Given the description of an element on the screen output the (x, y) to click on. 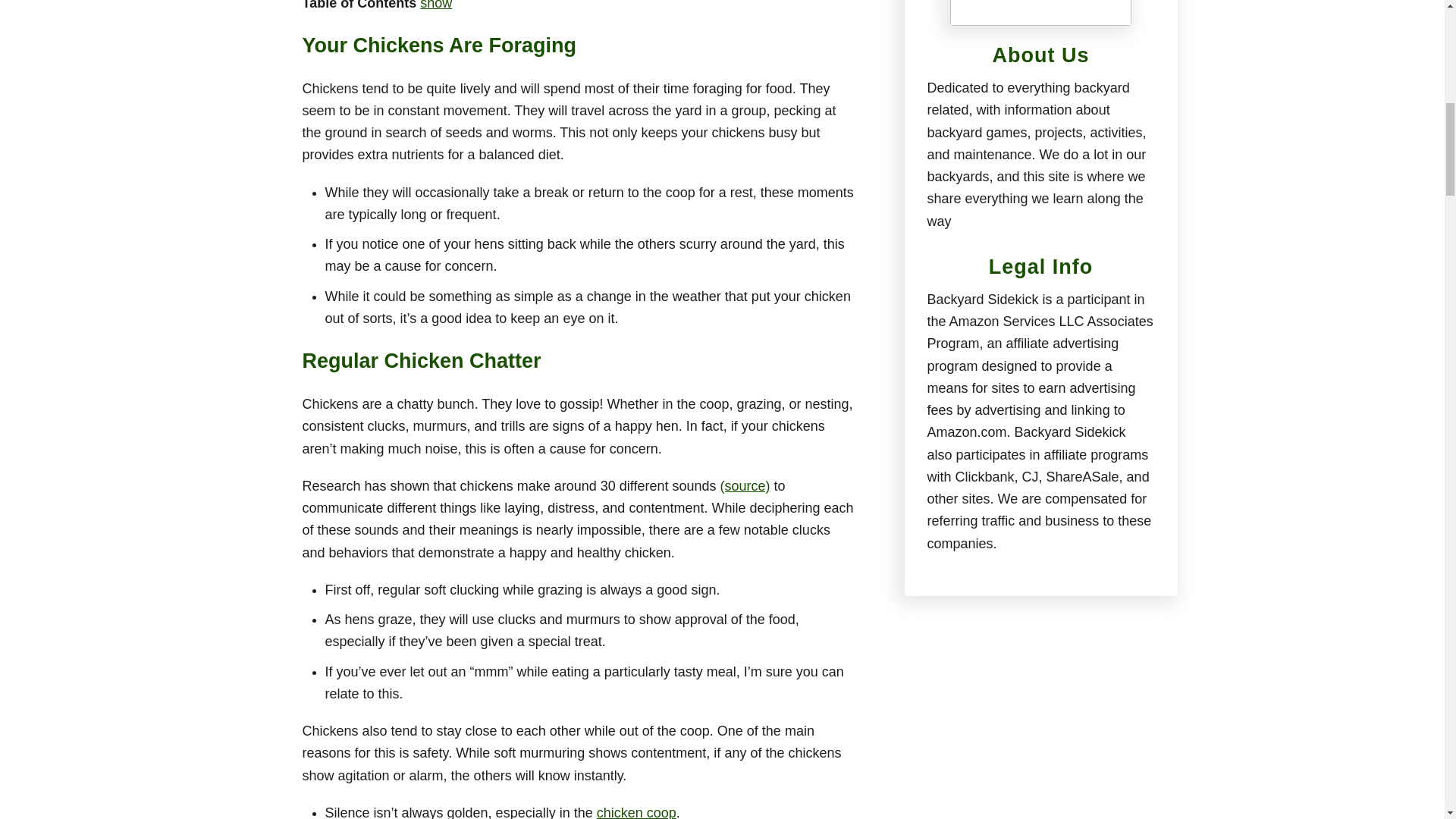
show (435, 5)
